Given the description of an element on the screen output the (x, y) to click on. 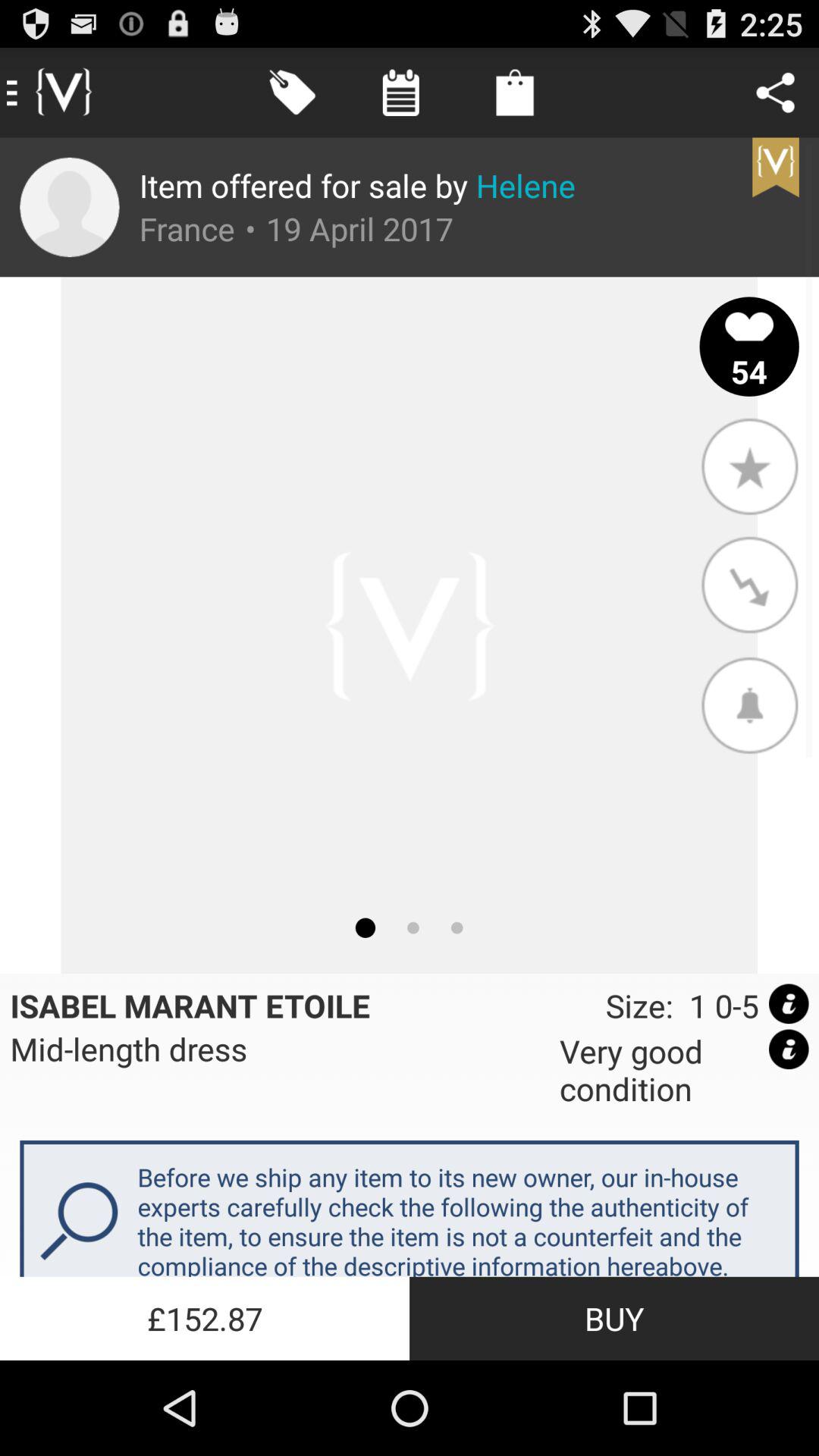
tap the app above the france item (357, 185)
